Given the description of an element on the screen output the (x, y) to click on. 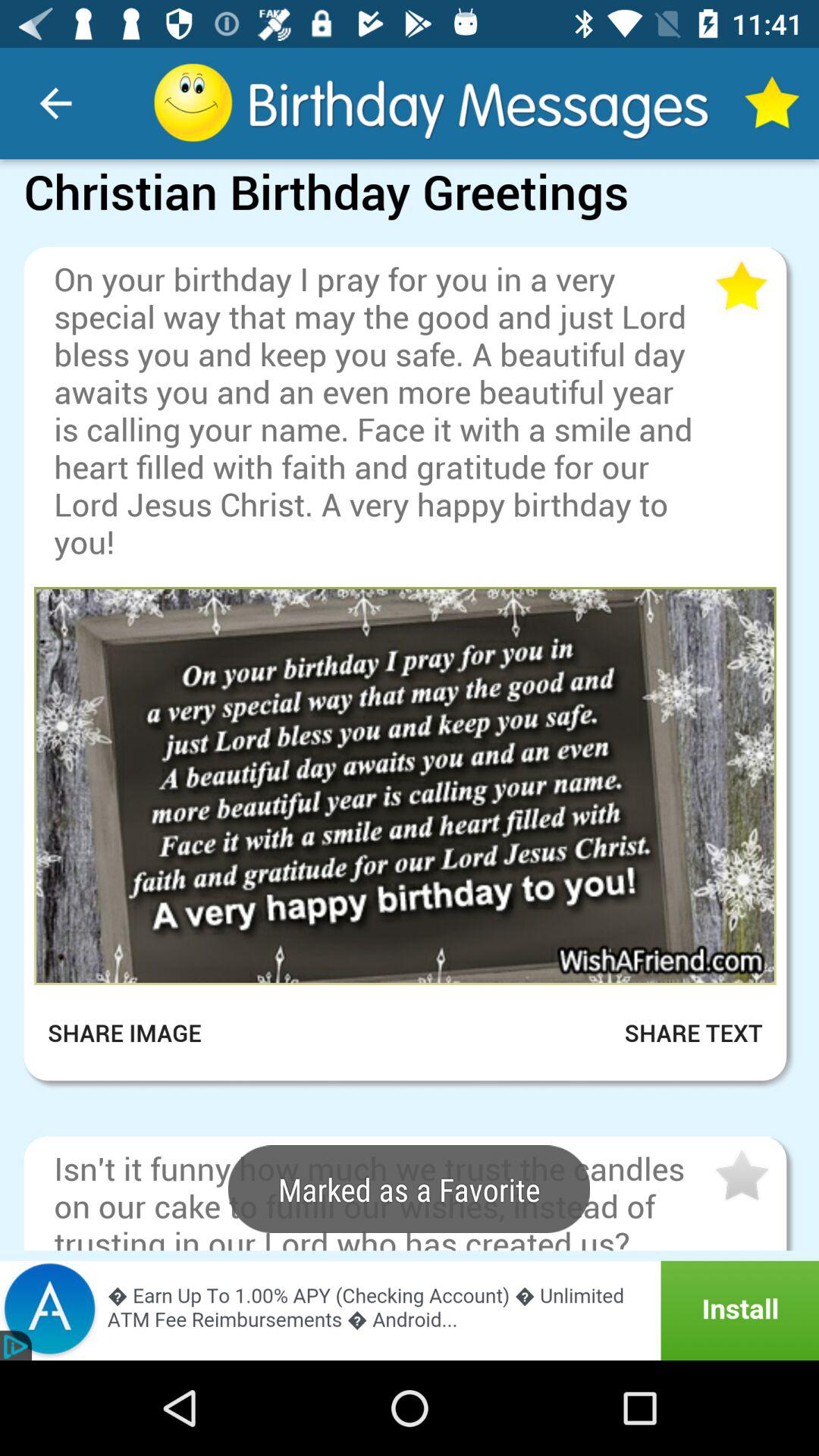
mark post as favorite (740, 1176)
